Given the description of an element on the screen output the (x, y) to click on. 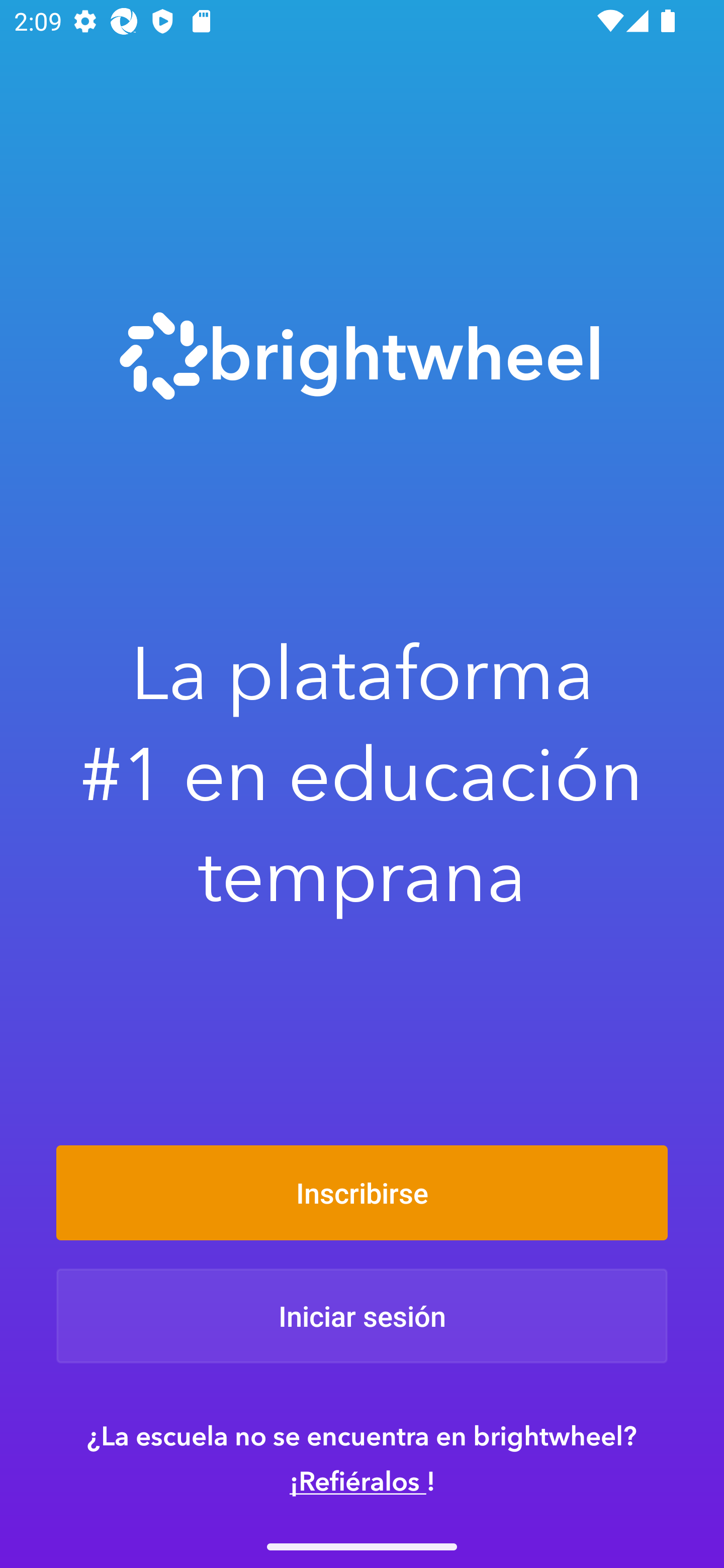
Inscribirse (361, 1192)
Iniciar sesión (361, 1316)
